Given the description of an element on the screen output the (x, y) to click on. 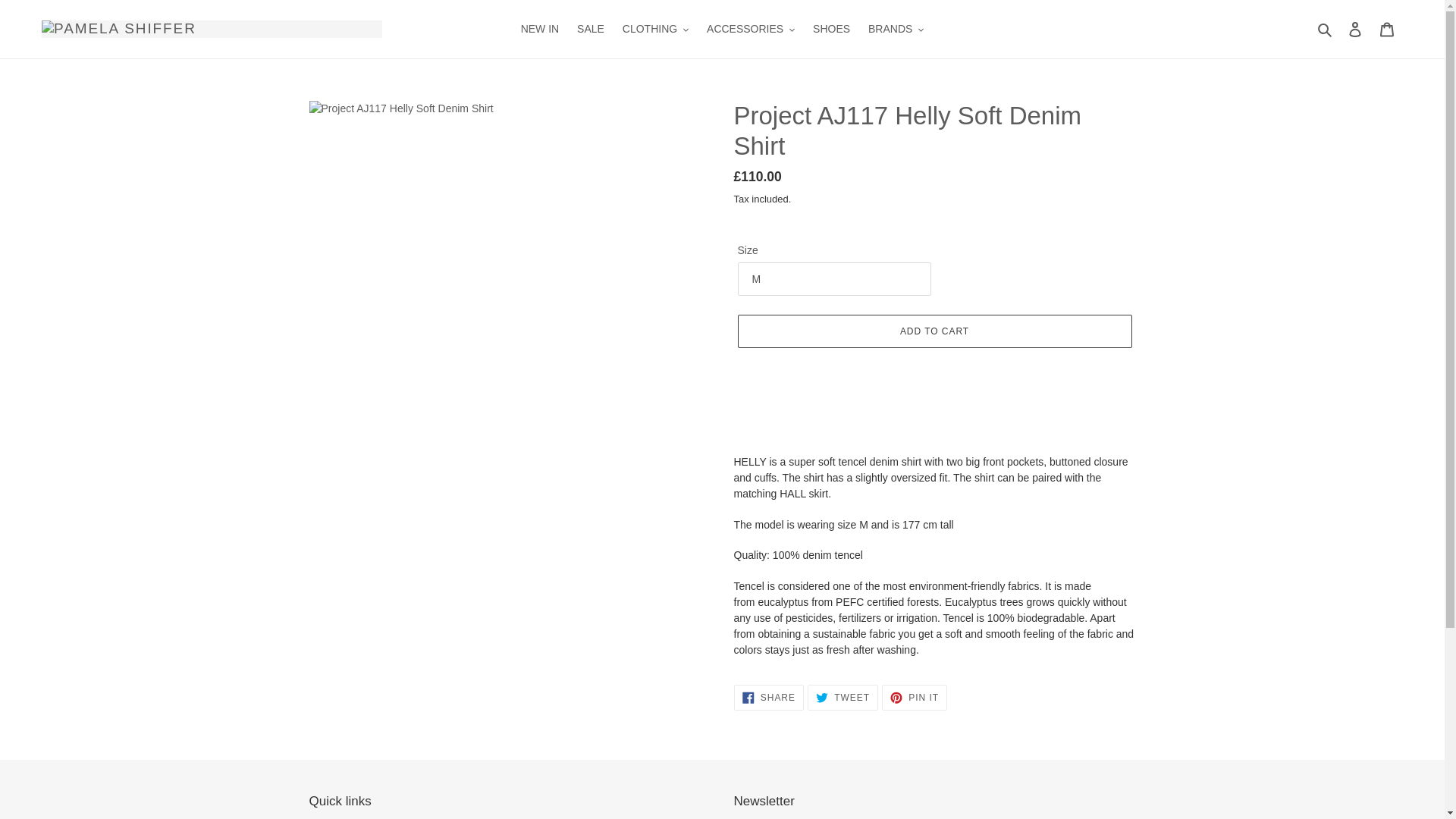
SALE (590, 28)
CLOTHING (654, 28)
ACCESSORIES (750, 28)
BRANDS (895, 28)
SHOES (831, 28)
NEW IN (540, 28)
